Given the description of an element on the screen output the (x, y) to click on. 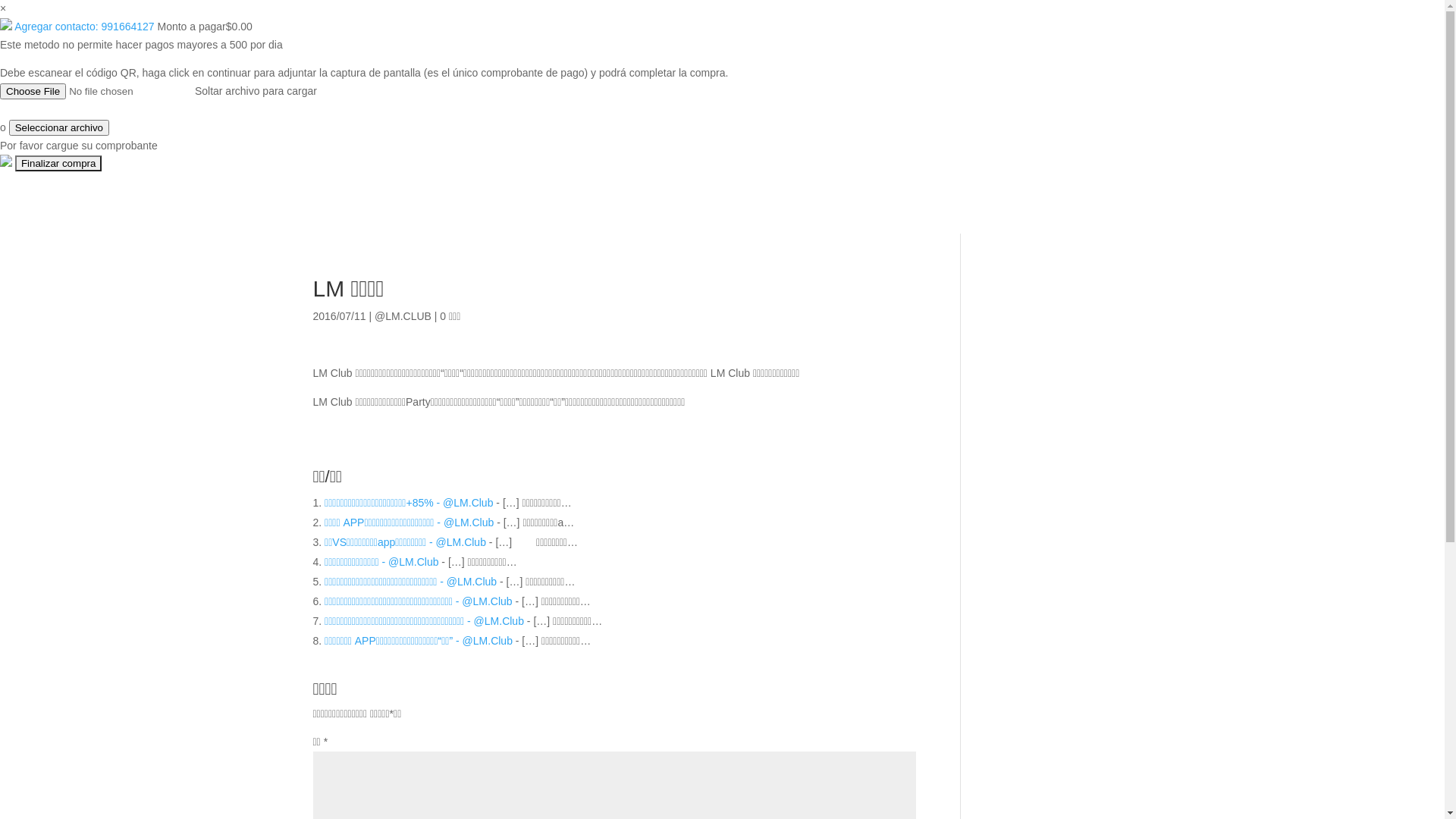
Finalizar compra Element type: text (58, 163)
Seleccionar archivo Element type: text (59, 127)
Agregar contacto: 991664127 Element type: text (83, 26)
@LM.CLUB Element type: text (402, 316)
